Given the description of an element on the screen output the (x, y) to click on. 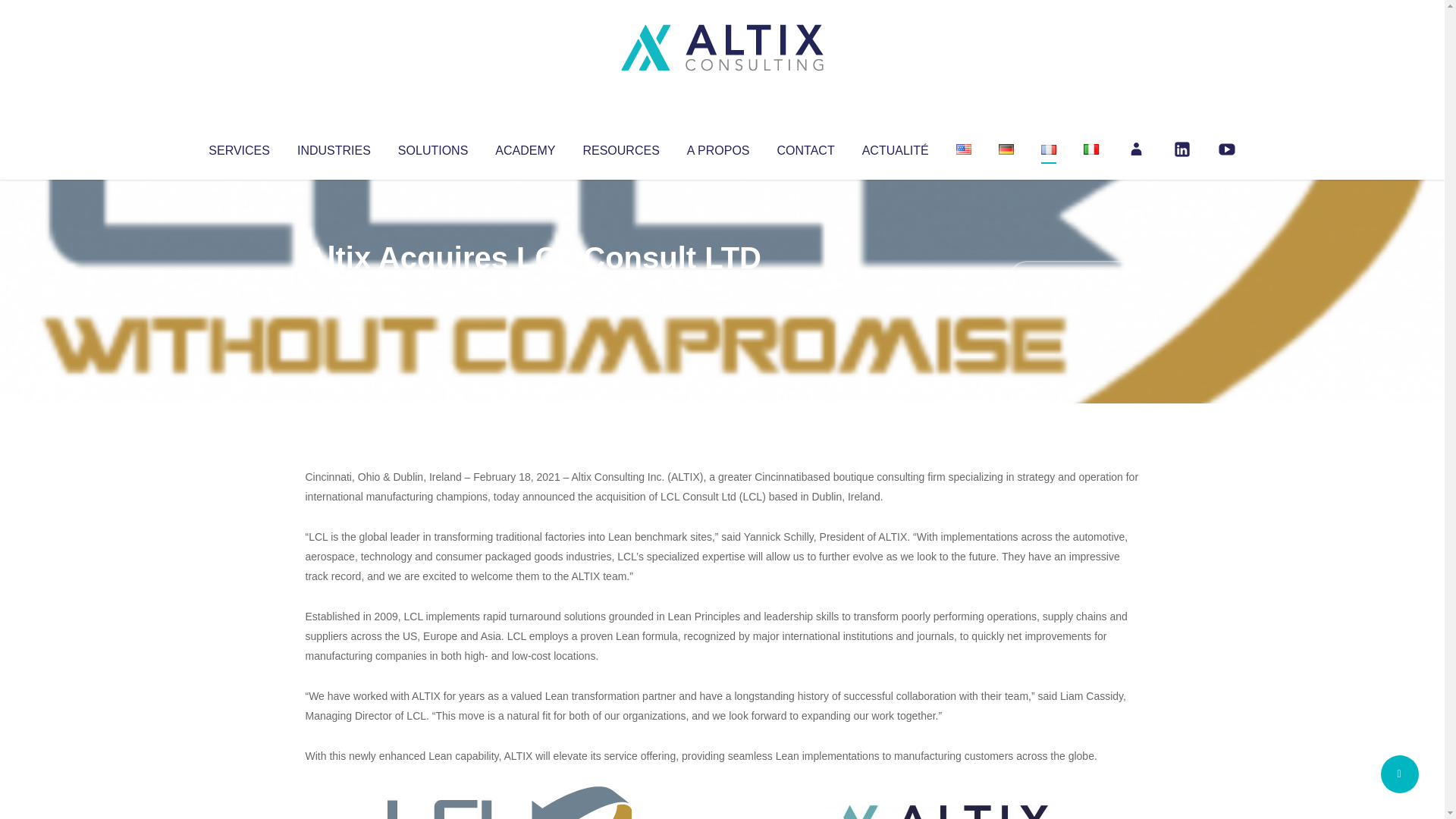
A PROPOS (718, 146)
INDUSTRIES (334, 146)
SOLUTIONS (432, 146)
Articles par Altix (333, 287)
RESOURCES (620, 146)
Uncategorized (530, 287)
SERVICES (238, 146)
No Comments (1073, 278)
Altix (333, 287)
ACADEMY (524, 146)
